Given the description of an element on the screen output the (x, y) to click on. 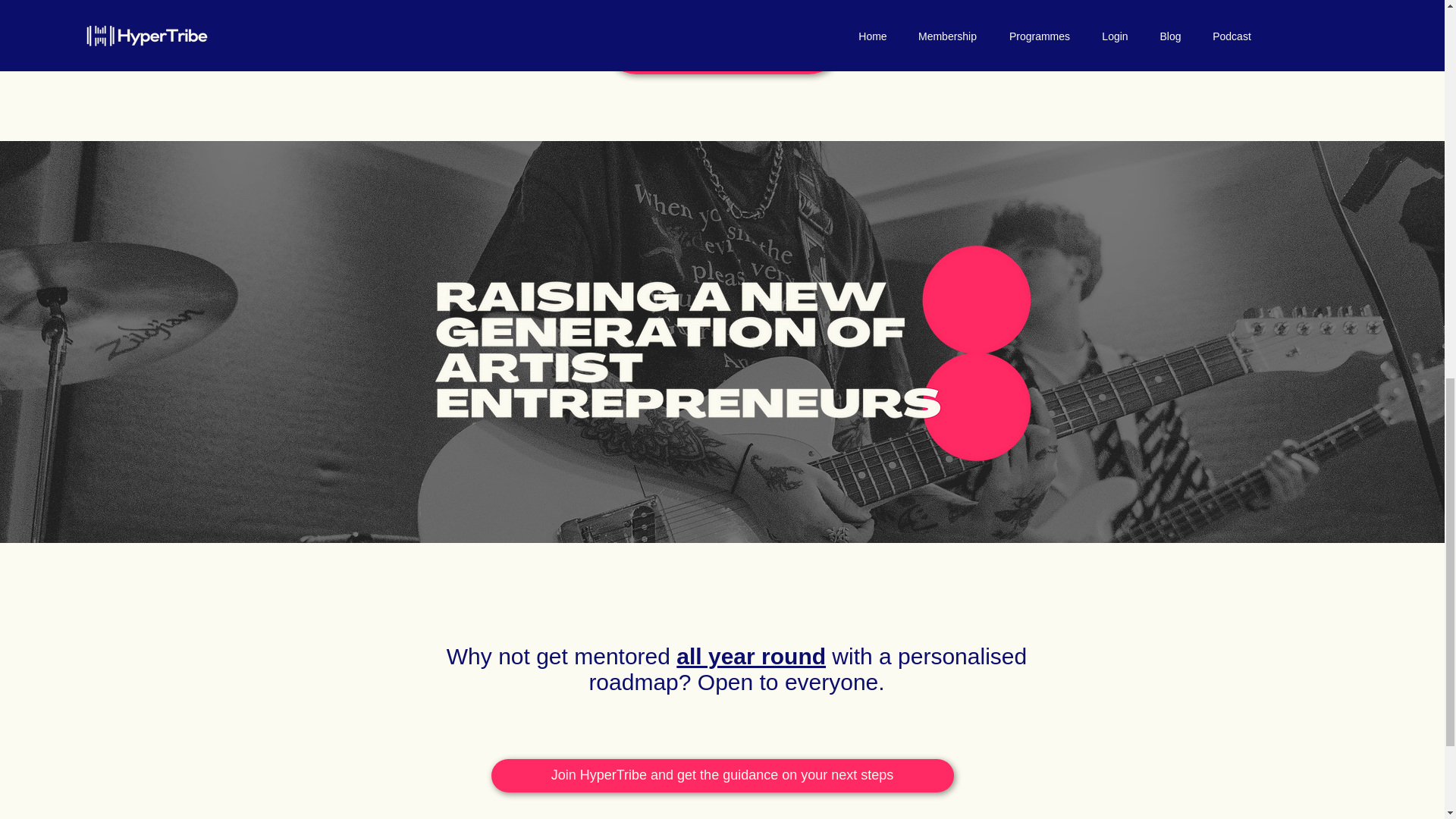
Join HyperTribe and get the guidance on your next steps (722, 775)
Get notified (721, 40)
